Given the description of an element on the screen output the (x, y) to click on. 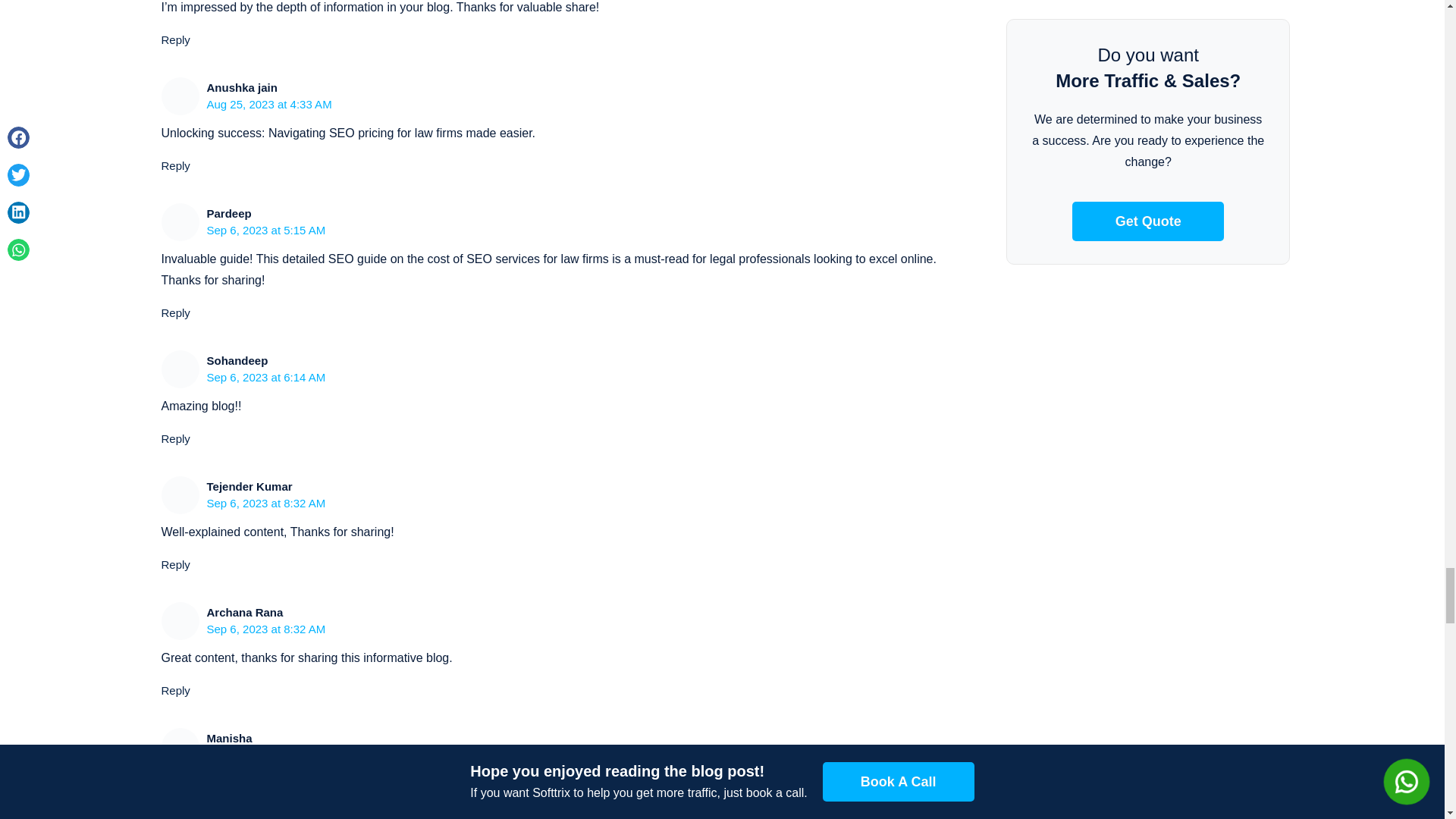
Reply (174, 563)
Reply (174, 39)
Reply (174, 689)
Reply (174, 438)
Reply (174, 312)
Reply (174, 814)
Reply (174, 164)
